Given the description of an element on the screen output the (x, y) to click on. 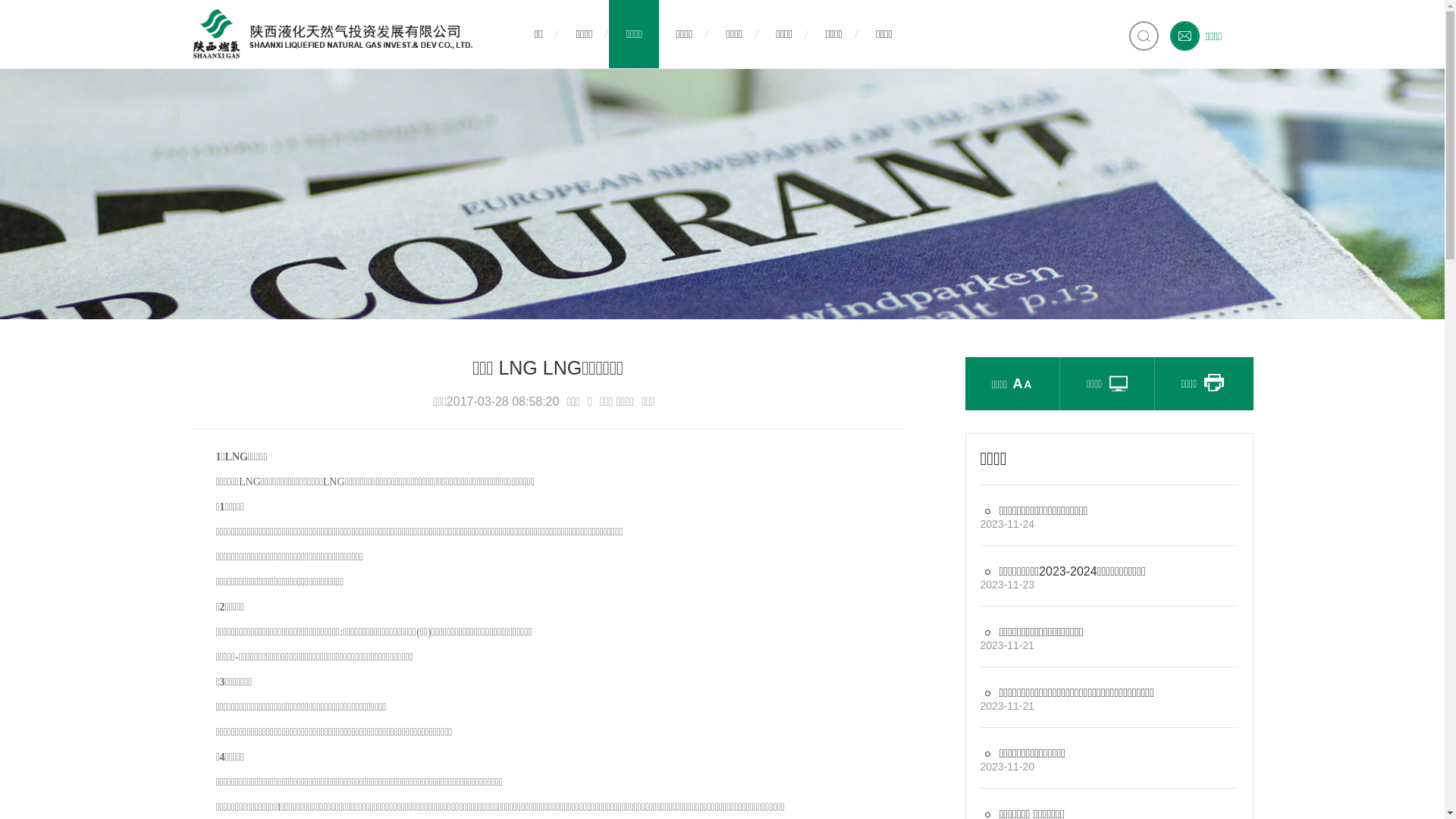
A Element type: text (1016, 383)
A Element type: text (1027, 363)
